Given the description of an element on the screen output the (x, y) to click on. 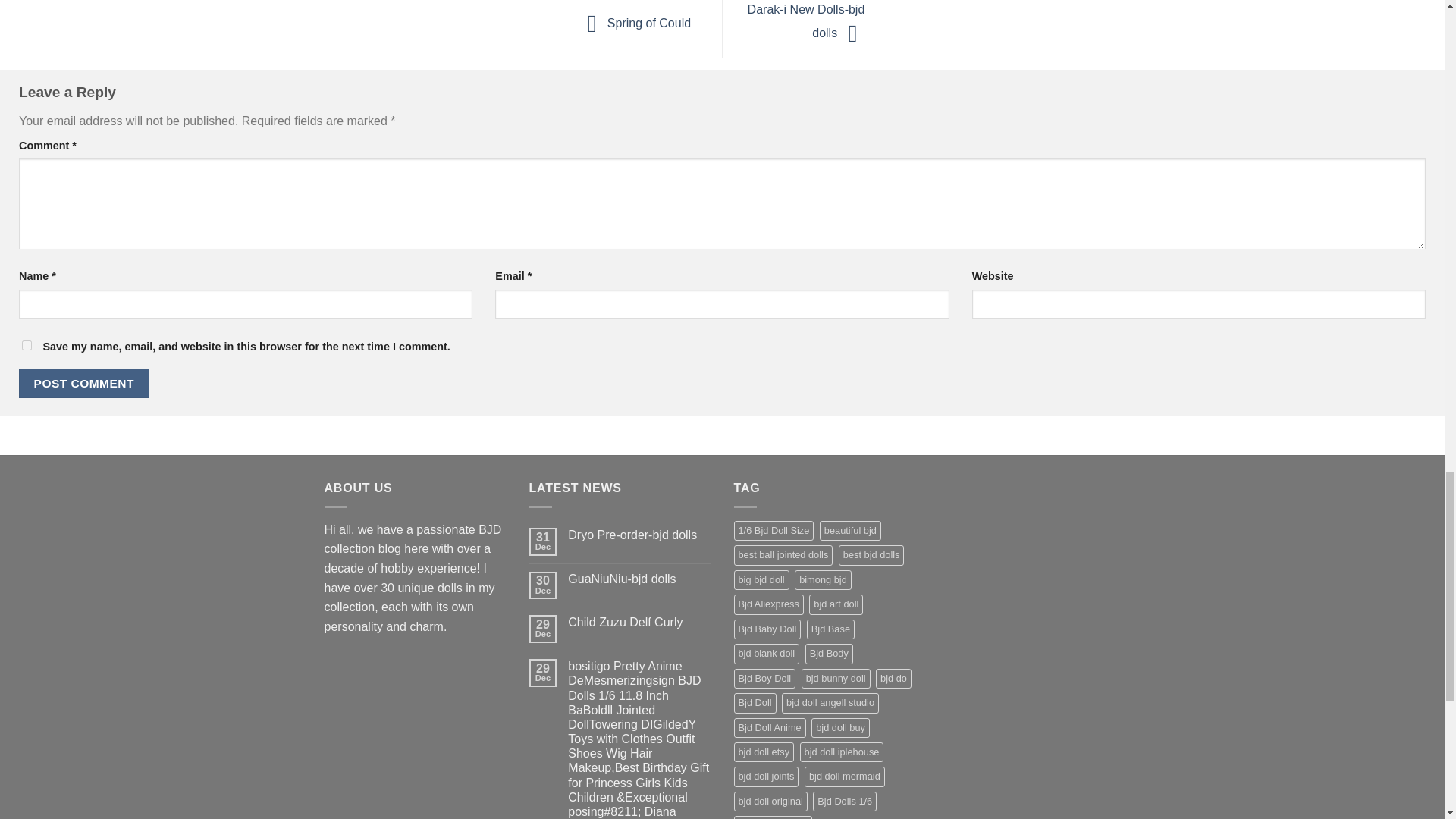
GuaNiuNiu-bjd dolls (638, 578)
Post Comment (83, 383)
Post Comment (83, 383)
Dryo Pre-order-bjd dolls (638, 534)
Child Zuzu Delf Curly (638, 622)
GuaNiuNiu-bjd dolls (638, 578)
Spring of Could (634, 23)
Dryo Pre-order-bjd dolls (638, 534)
Child Zuzu Delf Curly (638, 622)
yes (26, 345)
Darak-i New Dolls-bjd dolls (806, 21)
